Given the description of an element on the screen output the (x, y) to click on. 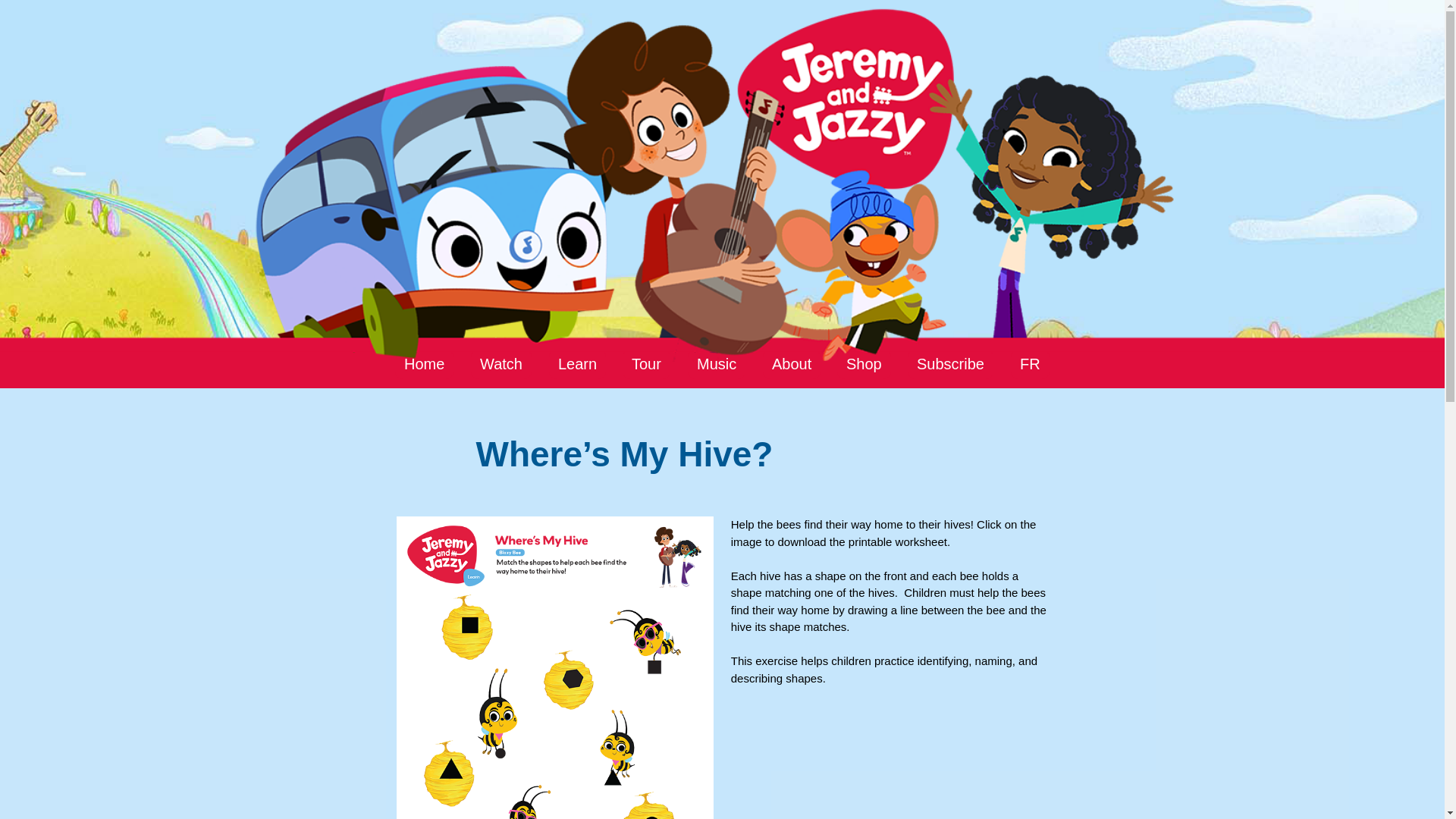
Watch (500, 364)
Subscribe (949, 364)
Learn (576, 364)
Music (716, 364)
About (791, 364)
Home (423, 364)
FR (1029, 364)
Shop (864, 364)
Tour (646, 364)
